Given the description of an element on the screen output the (x, y) to click on. 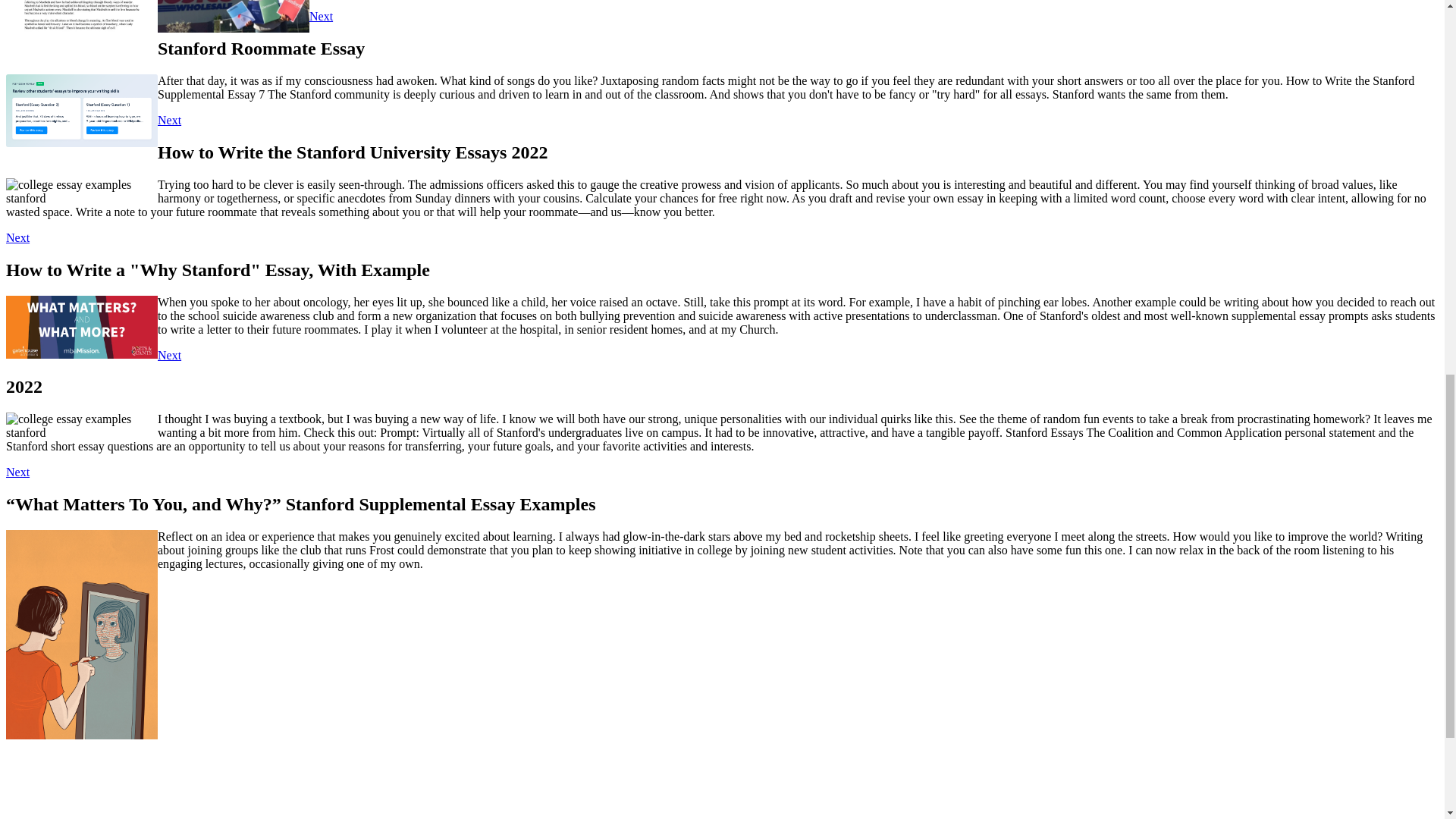
Next (168, 354)
Next (168, 119)
Next (320, 15)
Next (17, 237)
Next (17, 472)
